Given the description of an element on the screen output the (x, y) to click on. 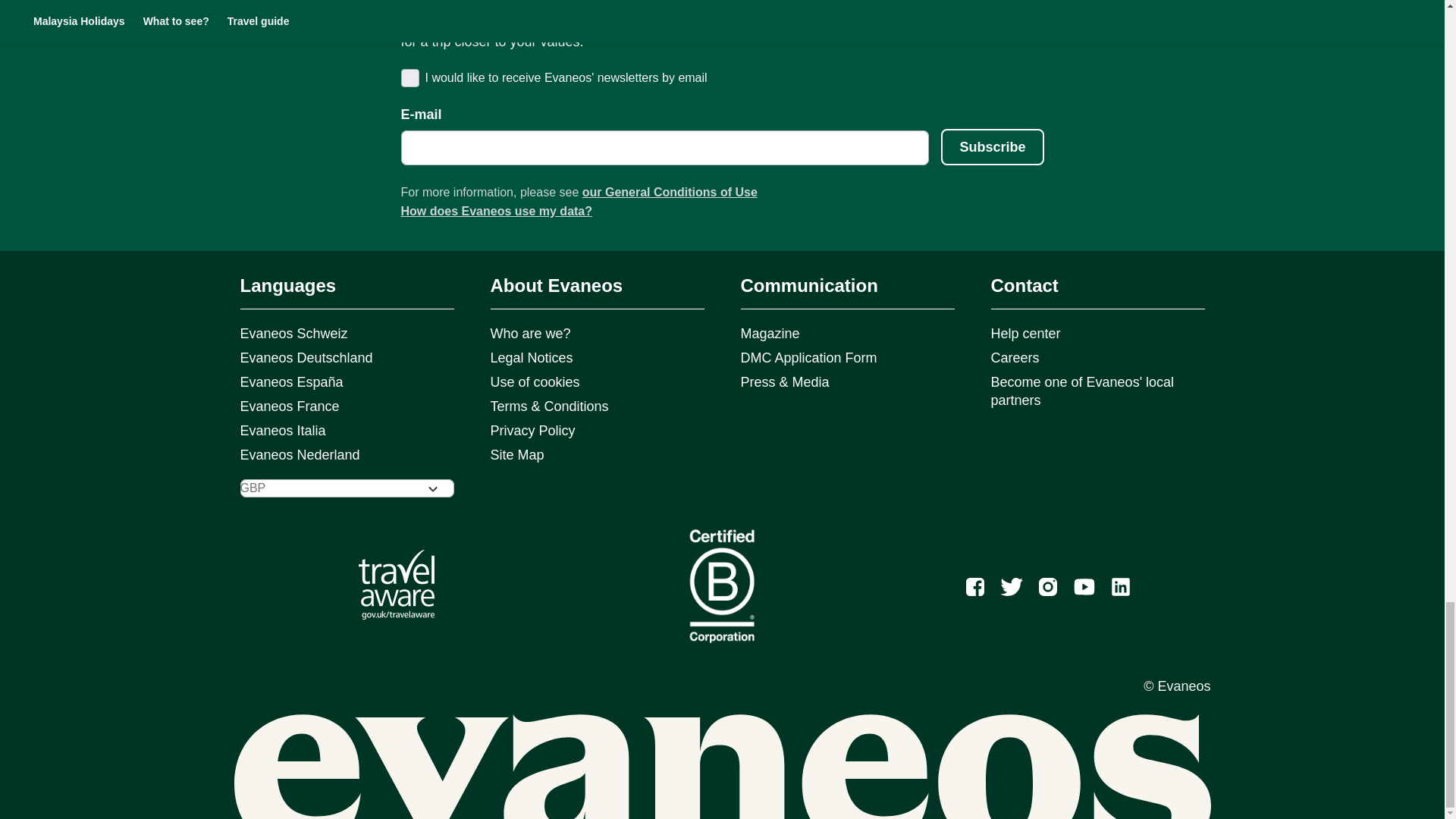
Subscribe (991, 146)
on (408, 76)
